Given the description of an element on the screen output the (x, y) to click on. 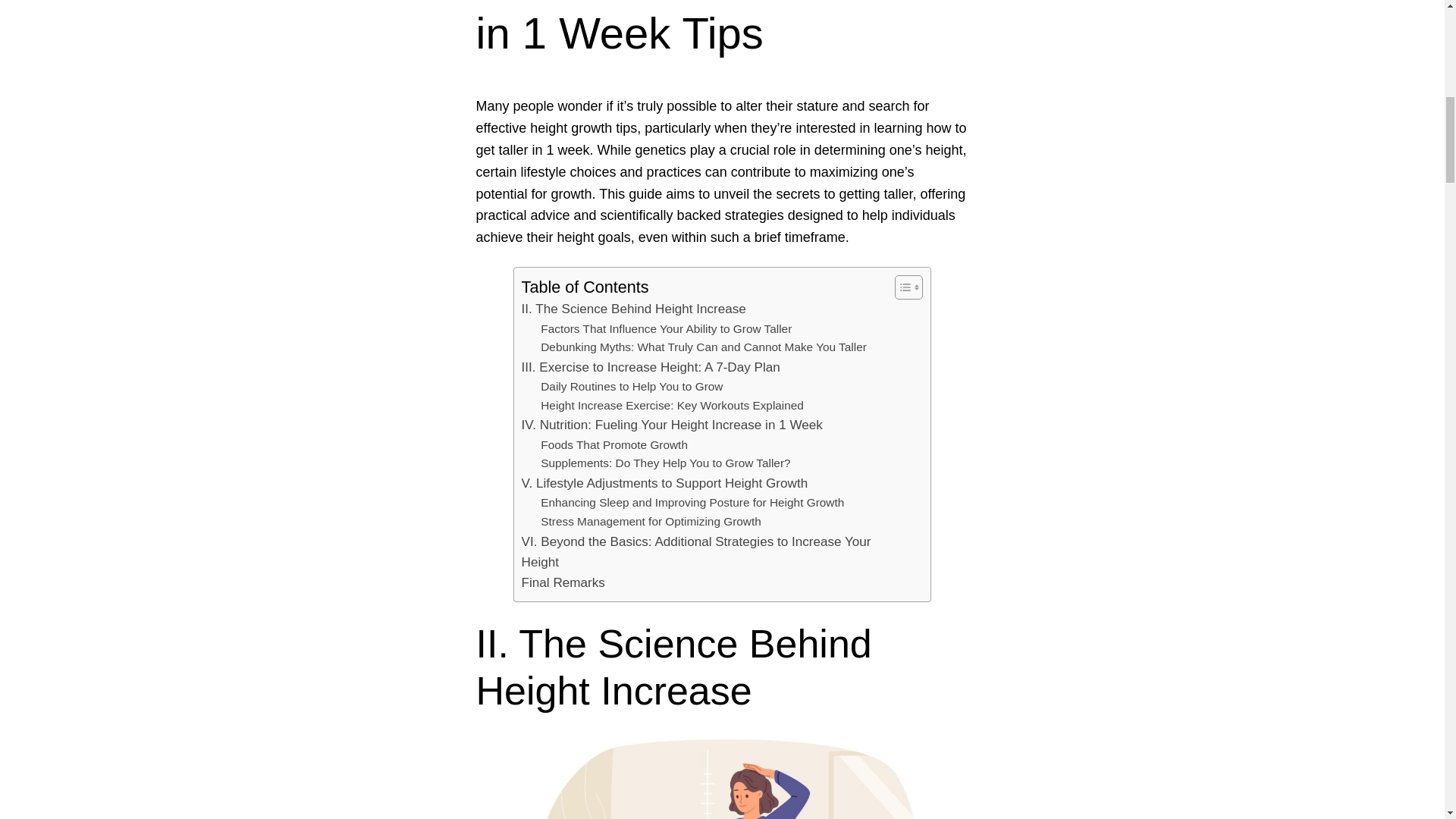
Stress Management for Optimizing Growth (650, 521)
IV. Nutrition: Fueling Your Height Increase in 1 Week (671, 424)
Factors That Influence Your Ability to Grow Taller (666, 329)
Enhancing Sleep and Improving Posture for Height Growth (692, 502)
Foods That Promote Growth (613, 445)
V. Lifestyle Adjustments to Support Height Growth (664, 483)
Debunking Myths: What Truly Can and Cannot Make You Taller (703, 347)
Height Increase Exercise: Key Workouts Explained (671, 405)
Final Remarks (563, 582)
